Given the description of an element on the screen output the (x, y) to click on. 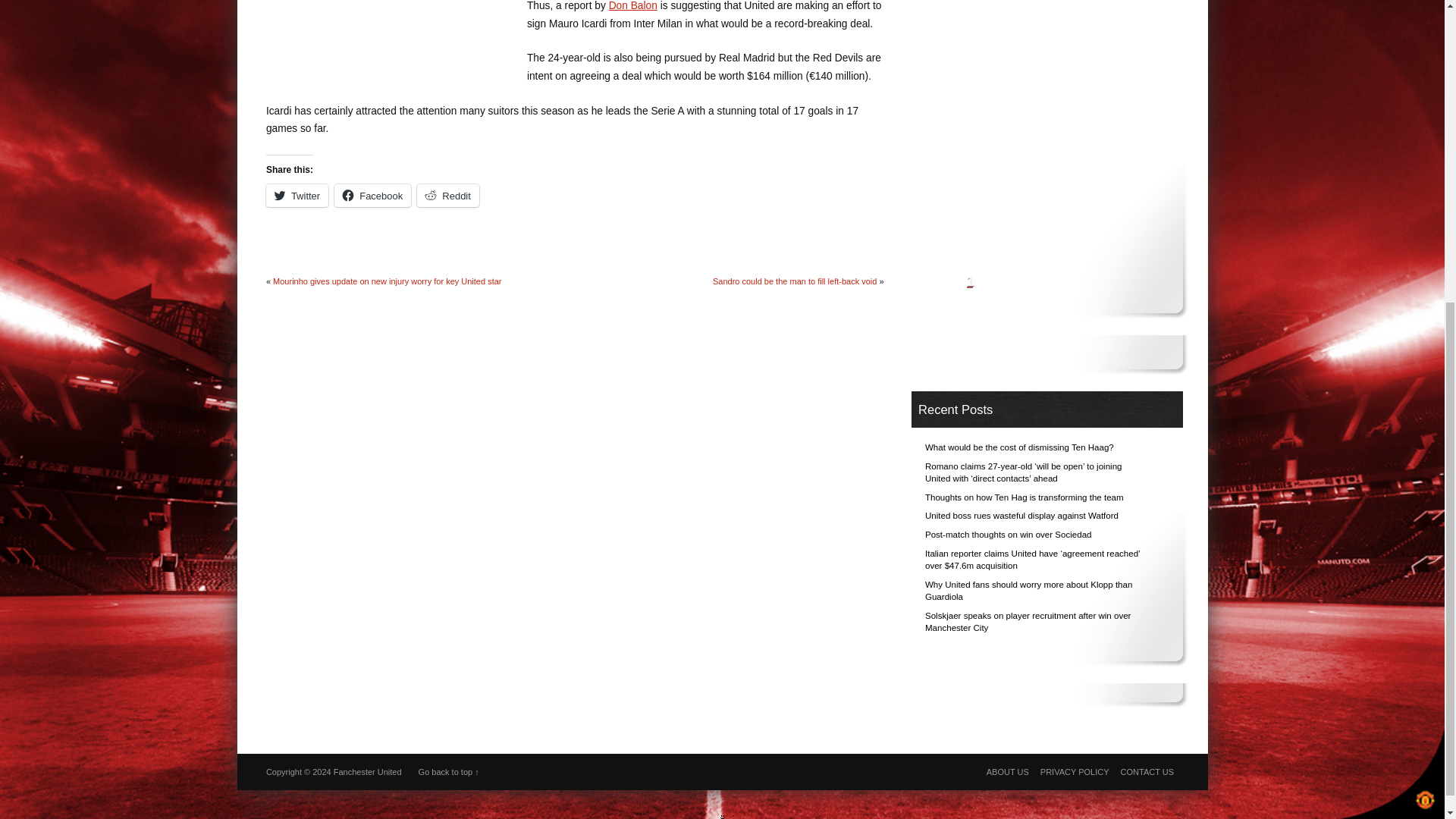
Why United fans should worry more about Klopp than Guardiola (1028, 590)
Don Balon (633, 5)
Thoughts on how Ten Hag is transforming the team (1024, 497)
Twitter (297, 195)
Click to share on Twitter (297, 195)
Facebook (372, 195)
Advertisement (393, 37)
Sandro could be the man to fill left-back void (794, 280)
Post-match thoughts on win over Sociedad (1008, 533)
United boss rues wasteful display against Watford (1021, 515)
What would be the cost of dismissing Ten Haag? (1018, 447)
Click to share on Facebook (372, 195)
Click to share on Reddit (447, 195)
Reddit (447, 195)
